Given the description of an element on the screen output the (x, y) to click on. 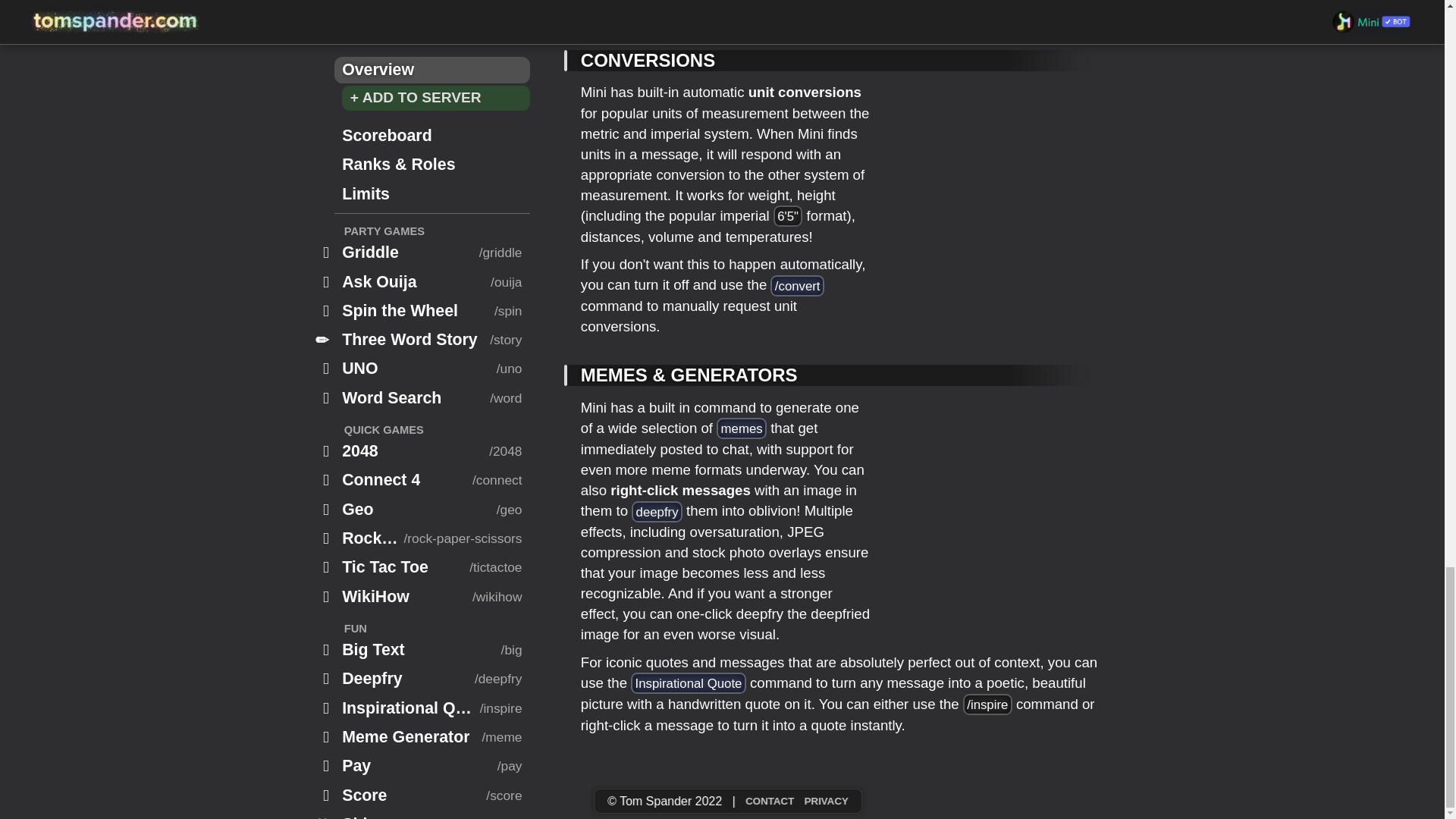
memes (741, 427)
Inspirational Quote (687, 682)
deepfry (656, 511)
